Given the description of an element on the screen output the (x, y) to click on. 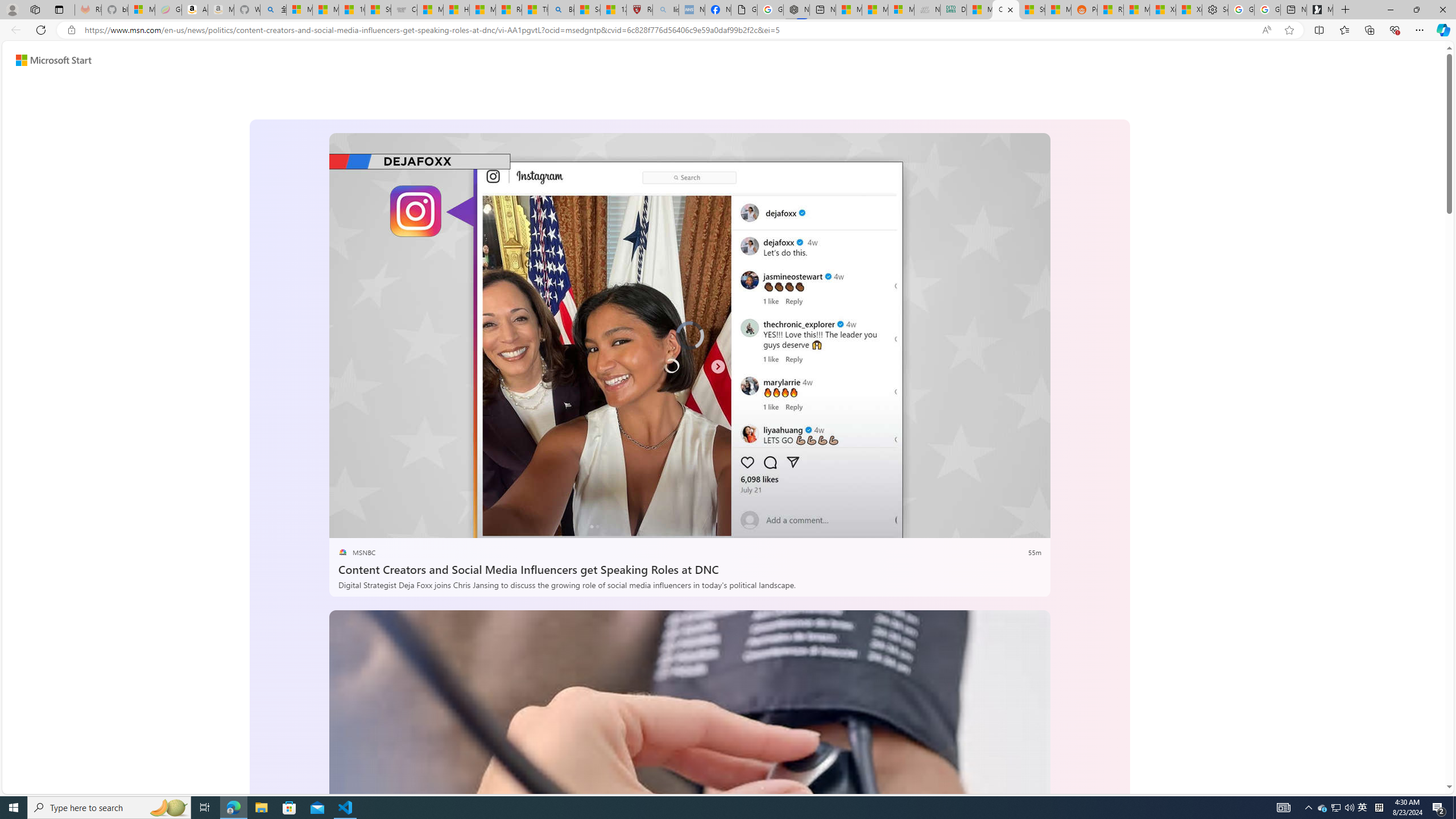
Pause (346, 525)
How I Got Rid of Microsoft Edge's Unnecessary Features (456, 9)
